Given the description of an element on the screen output the (x, y) to click on. 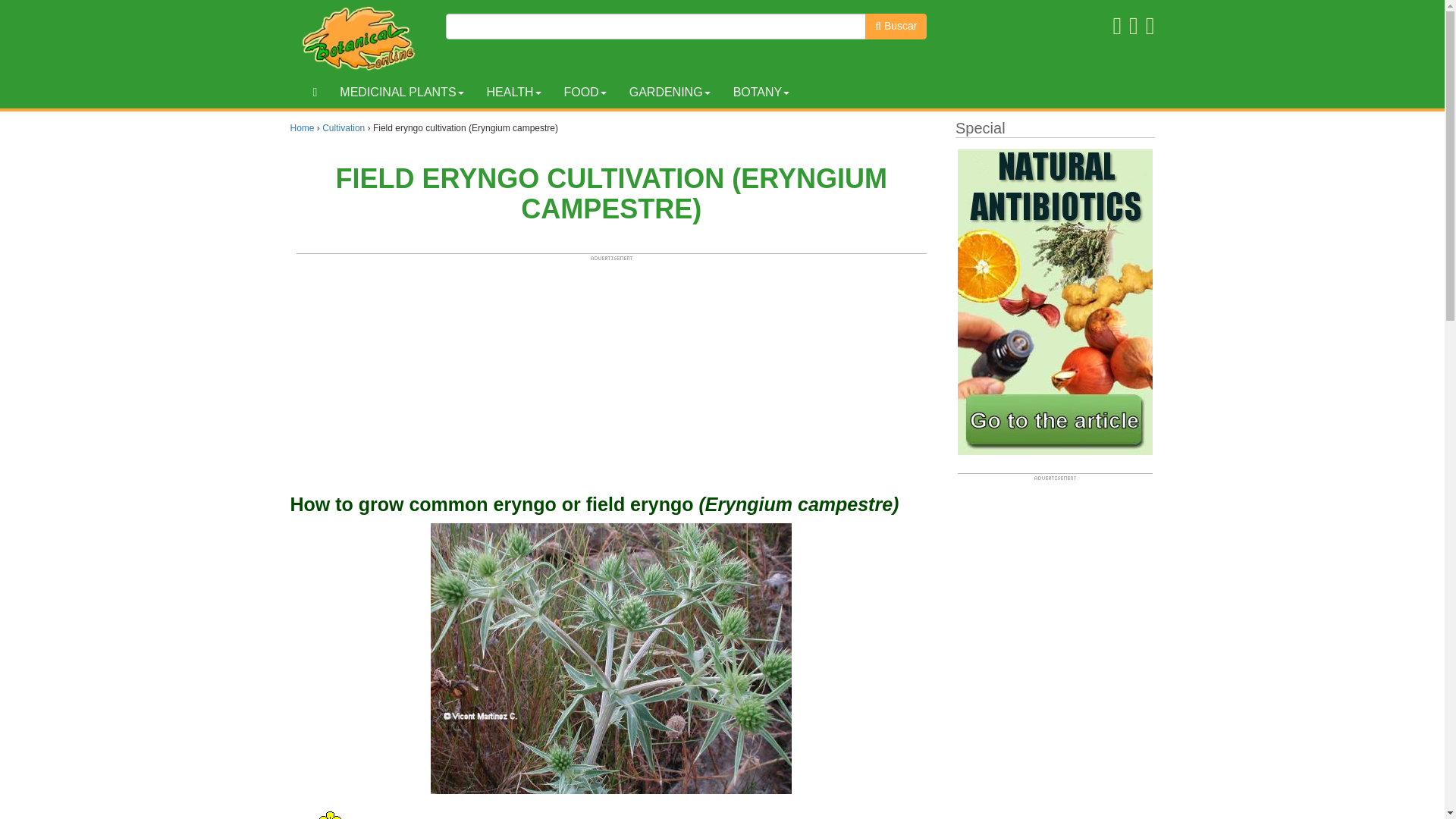
Become a fan in Facebook (1116, 25)
MEDICINAL PLANTS (401, 92)
Instagram of Botanical-Online (1133, 25)
HEALTH (514, 92)
Advertisement (1055, 650)
Buscar (895, 26)
Advertisement (611, 367)
Botanical-Online (362, 37)
Natural antibiotics (1055, 302)
GARDENING (669, 92)
Subscribe to our Youtube channel (1149, 25)
FOOD (584, 92)
Back to home (315, 92)
